Given the description of an element on the screen output the (x, y) to click on. 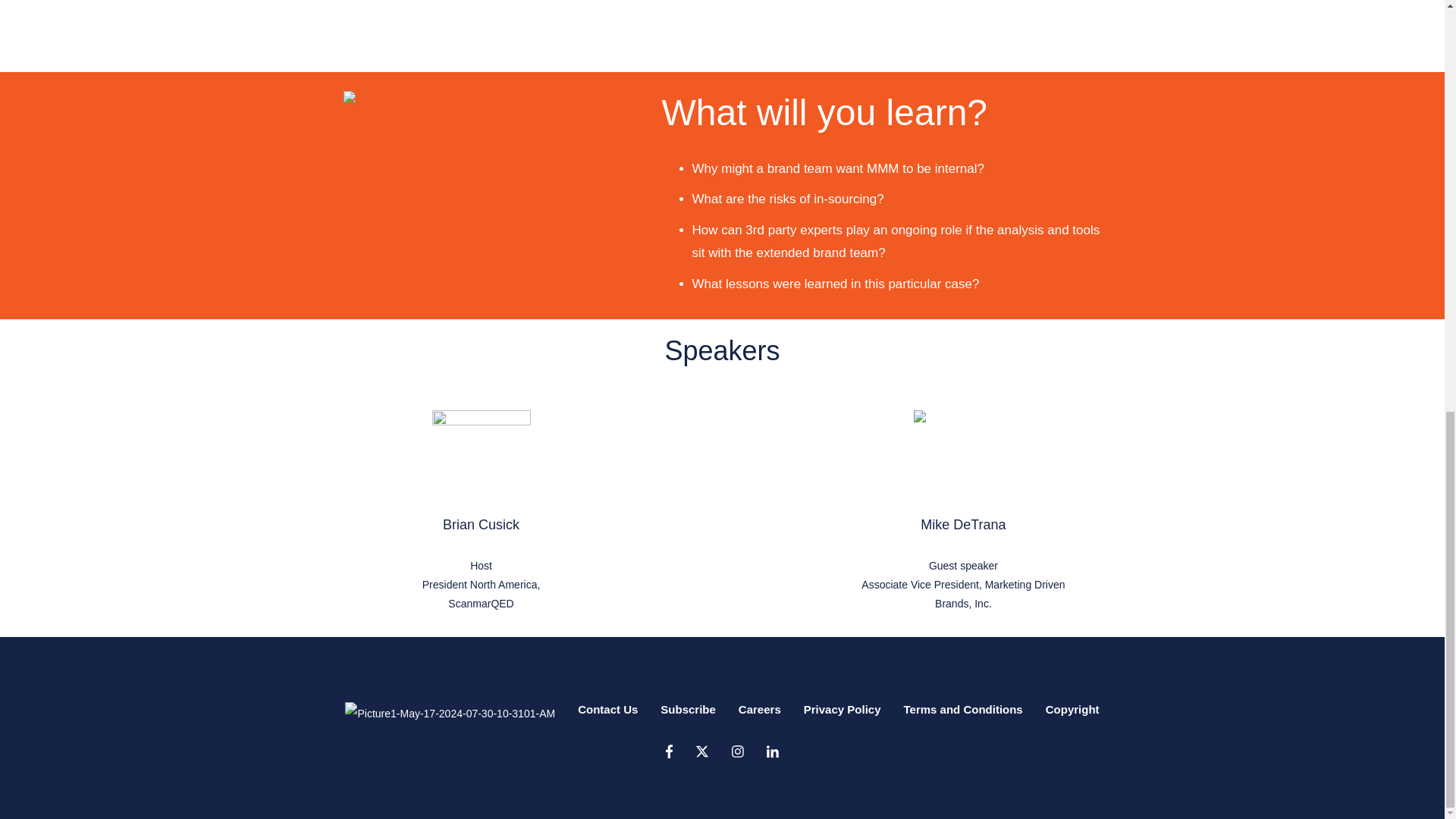
Copyright (1072, 709)
Follow us on X (702, 751)
Follow us on Instagram (738, 751)
Terms and Conditions (962, 709)
Picture1-May-17-2024-07-30-10-3101-AM (449, 713)
Careers (759, 709)
Follow us on Facebook (772, 751)
Subscribe (688, 709)
Privacy Policy (841, 709)
Contact Us (607, 709)
